Given the description of an element on the screen output the (x, y) to click on. 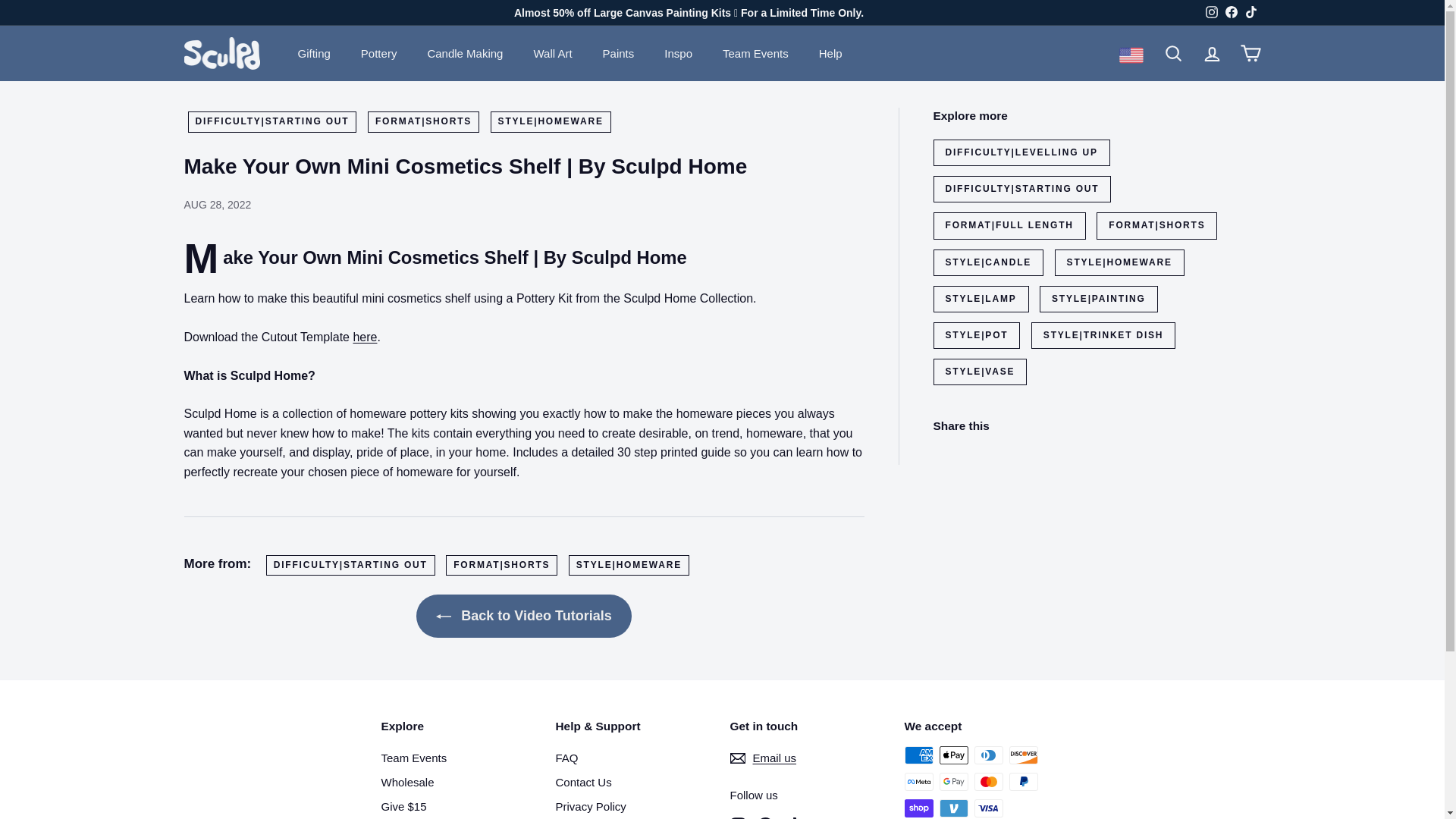
Diners Club (988, 755)
Gifting (313, 53)
Apple Pay (953, 755)
Mastercard (988, 782)
PayPal (1022, 782)
Meta Pay (918, 782)
American Express (918, 755)
Shop Pay (918, 808)
Discover (1022, 755)
Google Pay (953, 782)
Pottery (379, 53)
